Given the description of an element on the screen output the (x, y) to click on. 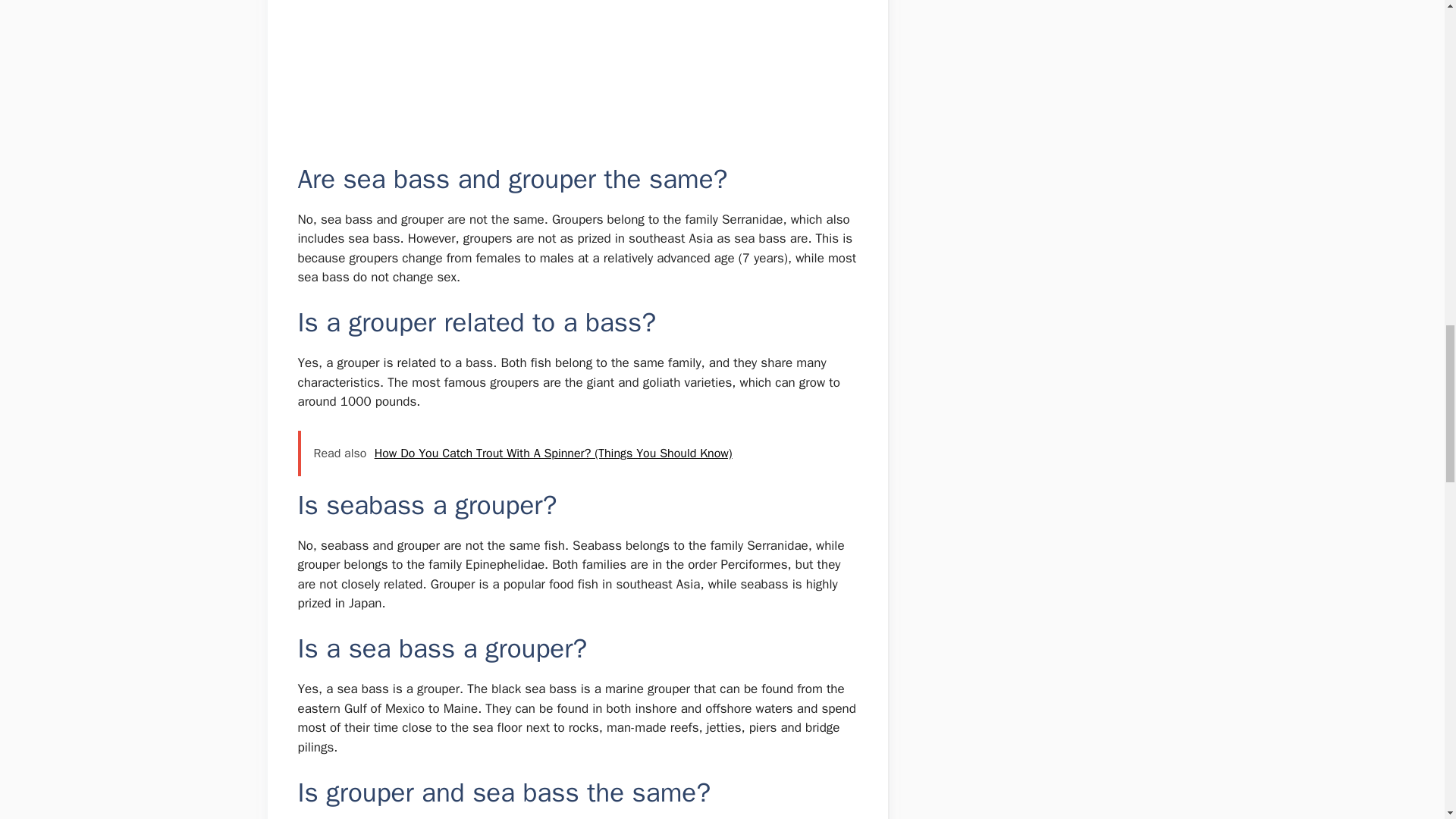
5 Fish to NEVER Eat (577, 81)
